Given the description of an element on the screen output the (x, y) to click on. 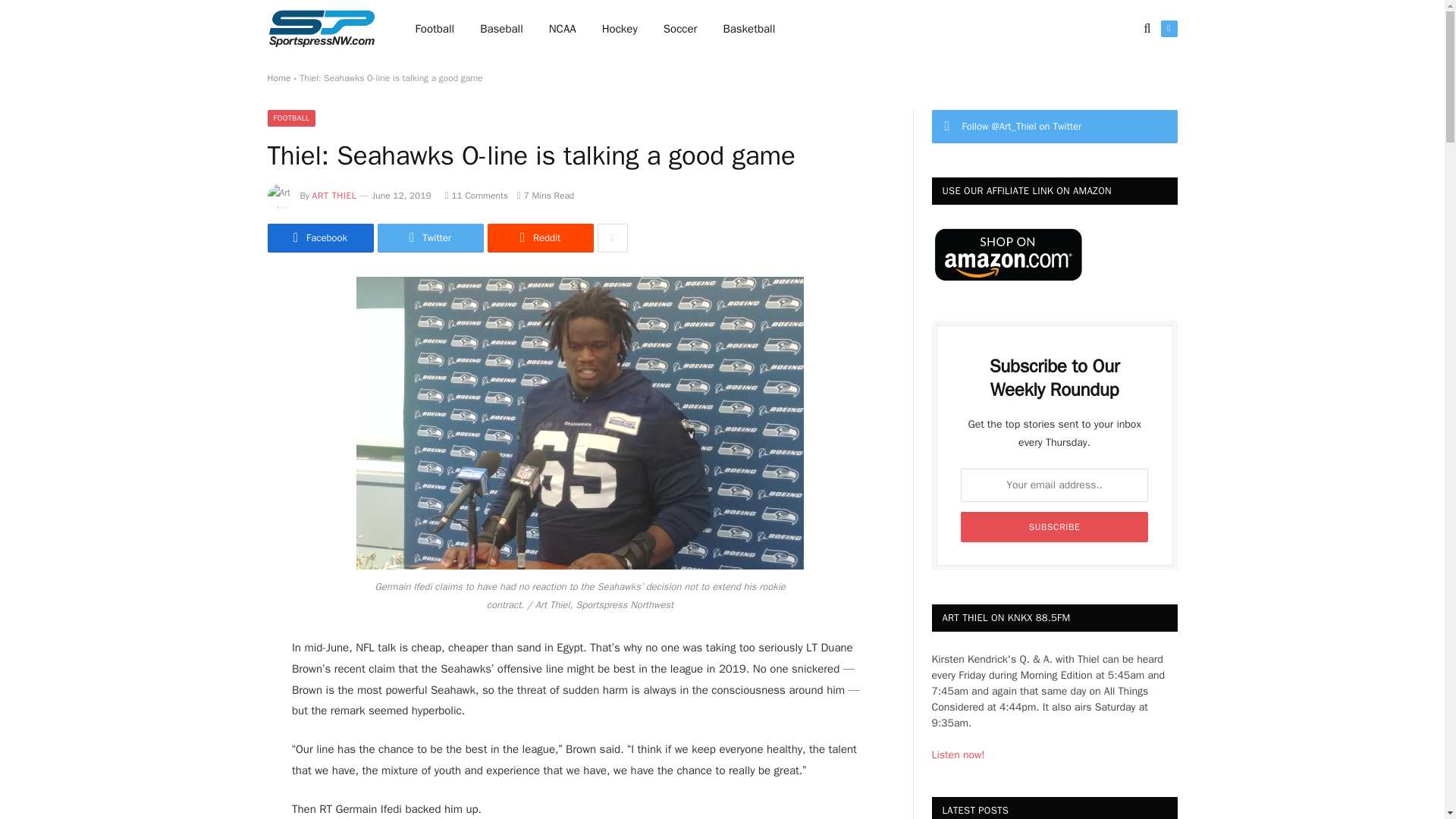
11 Comments (476, 195)
Baseball (501, 28)
Subscribe (1053, 526)
Soccer (680, 28)
Sportspress Northwest (320, 28)
Hockey (619, 28)
Basketball (748, 28)
ART THIEL (334, 195)
Show More Social Sharing (611, 237)
Share on Twitter (430, 237)
